Given the description of an element on the screen output the (x, y) to click on. 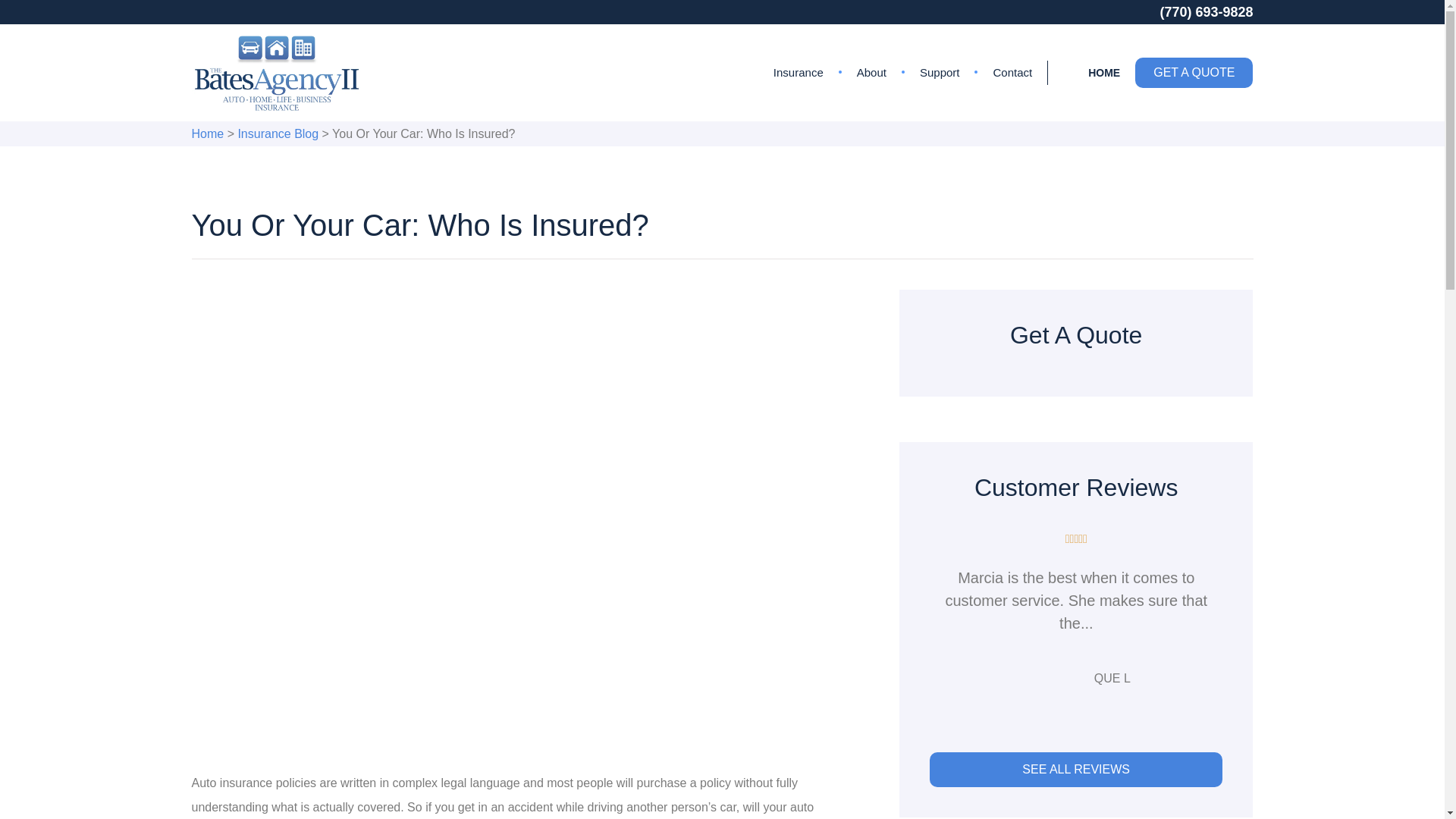
Support (939, 72)
About (871, 72)
Insurance (798, 72)
Contact (1011, 72)
